Given the description of an element on the screen output the (x, y) to click on. 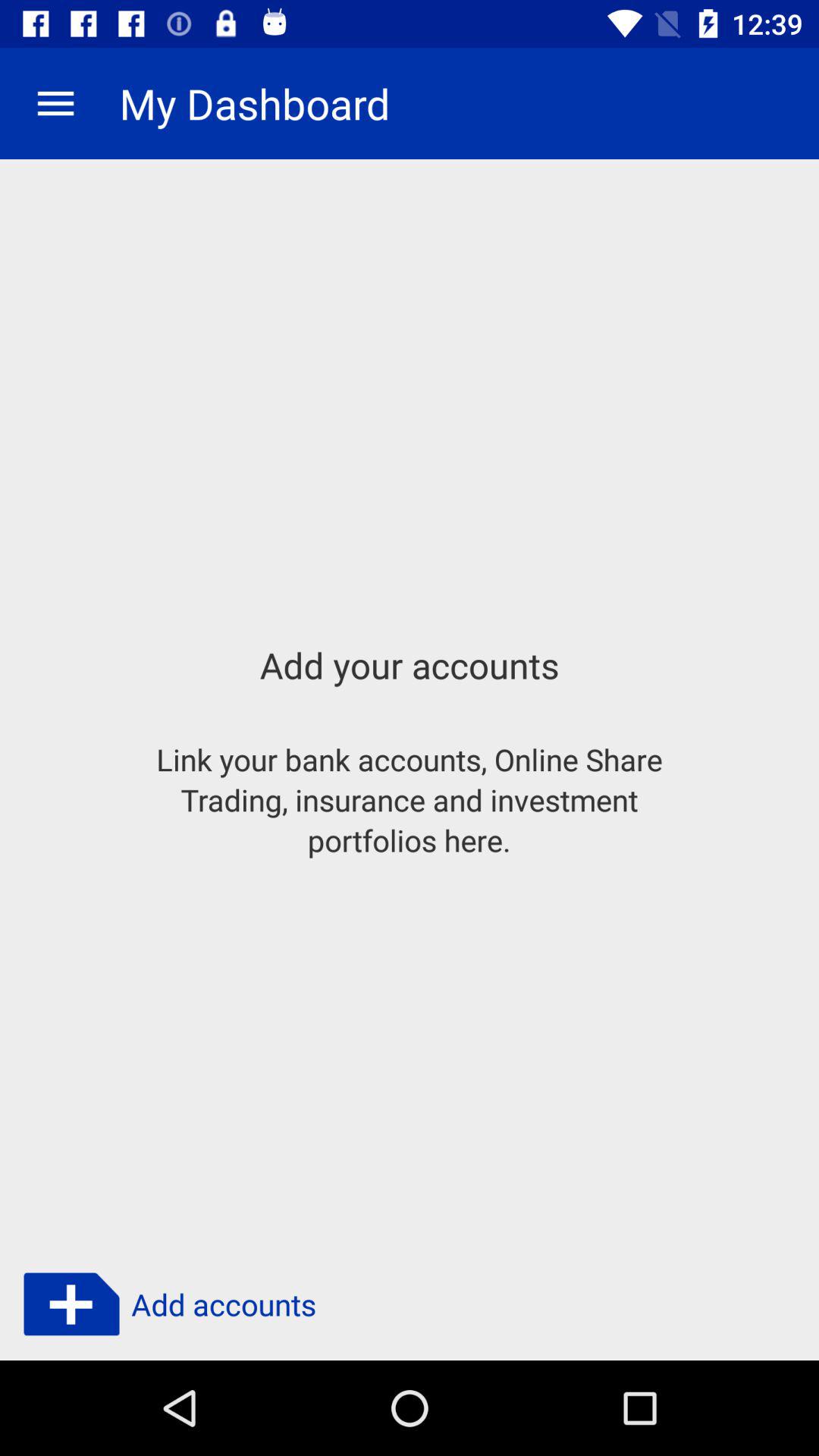
click plus button (71, 1304)
